Given the description of an element on the screen output the (x, y) to click on. 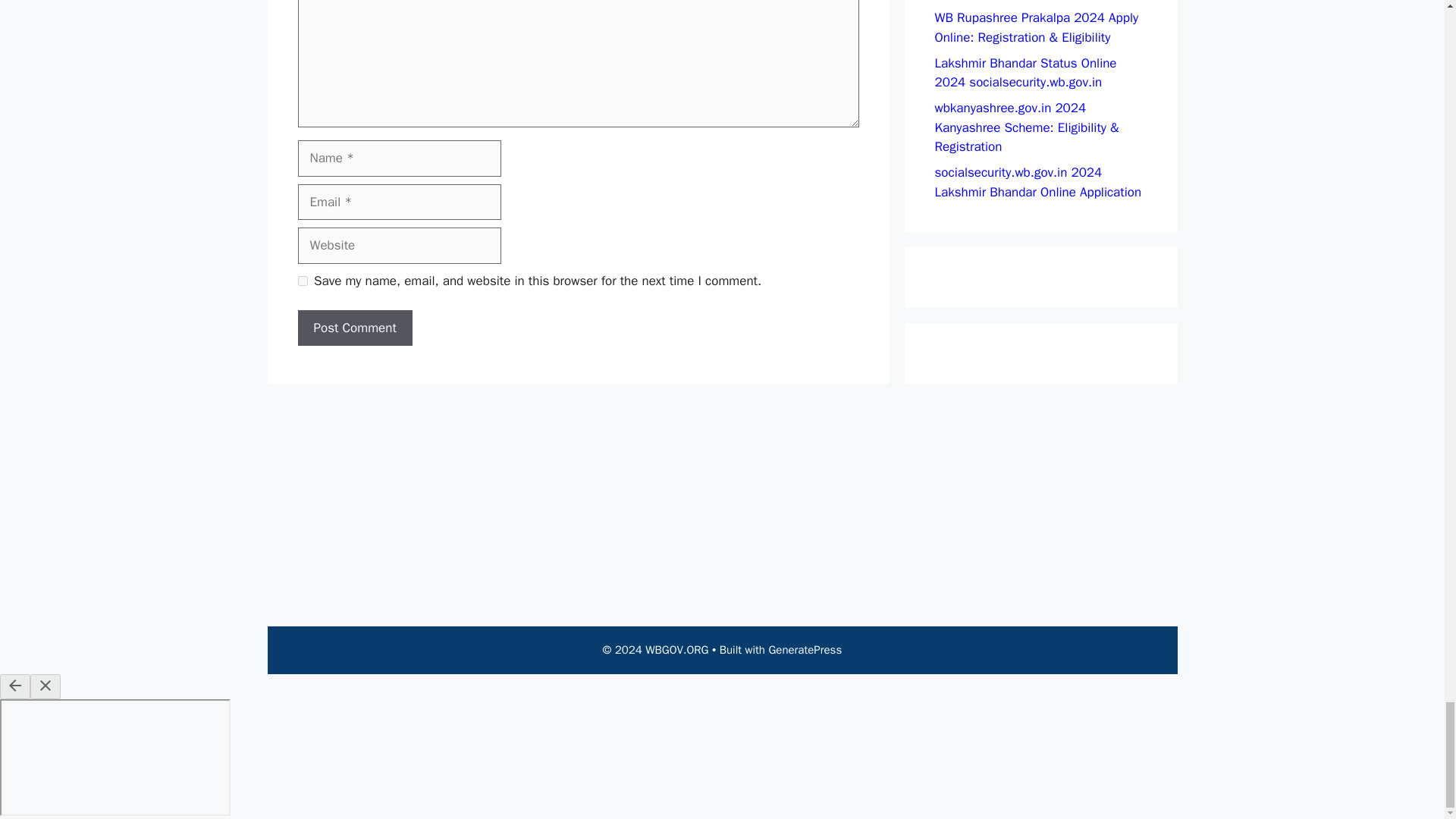
Post Comment (354, 328)
yes (302, 280)
Post Comment (354, 328)
